Given the description of an element on the screen output the (x, y) to click on. 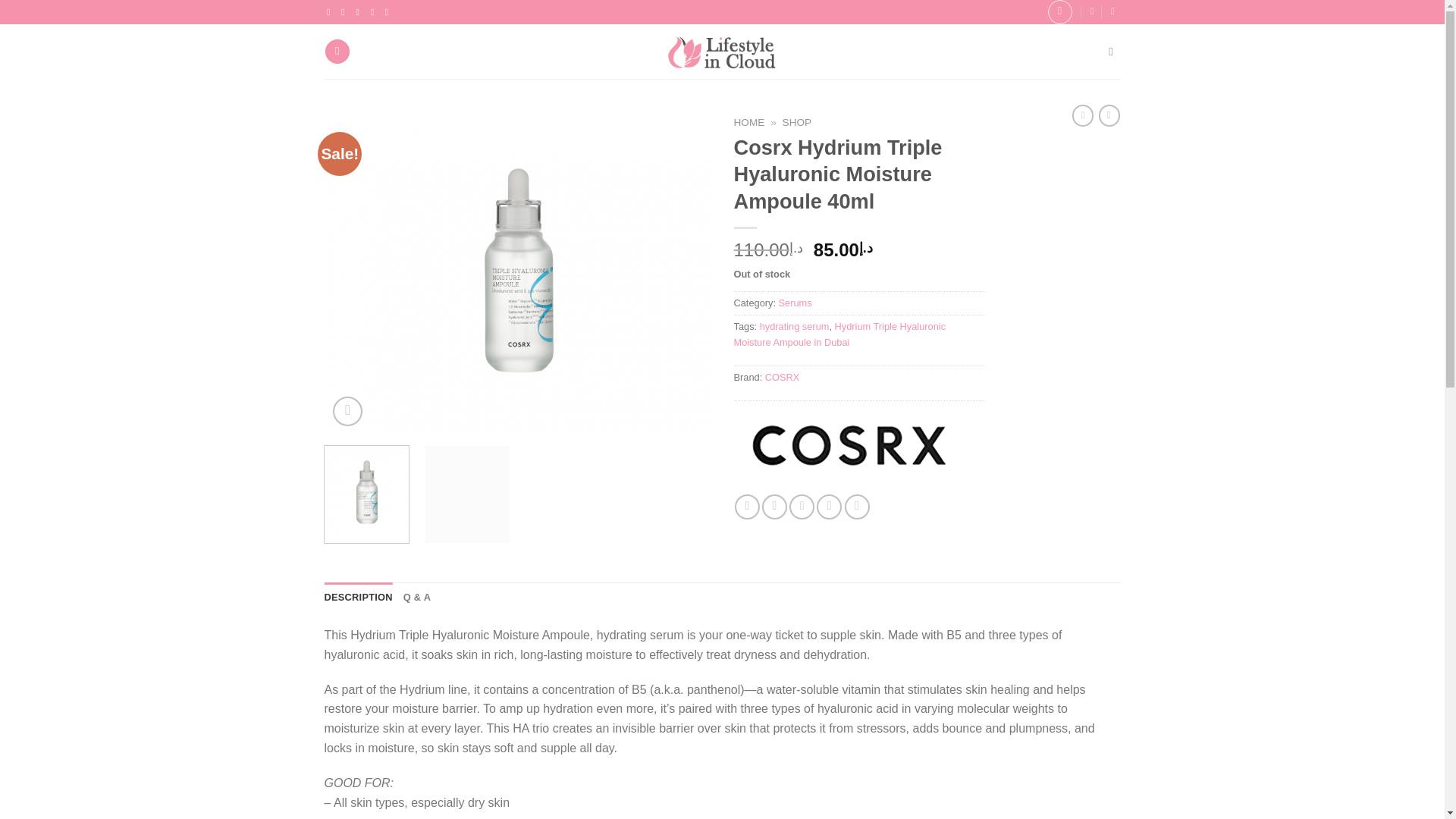
hydrating serum (794, 326)
Serums (795, 302)
COSRX (782, 377)
Zoom (347, 410)
HOME (749, 122)
SHOP (797, 122)
Hydrium Triple Hyaluronic Moisture Ampoule in Dubai (839, 334)
